Given the description of an element on the screen output the (x, y) to click on. 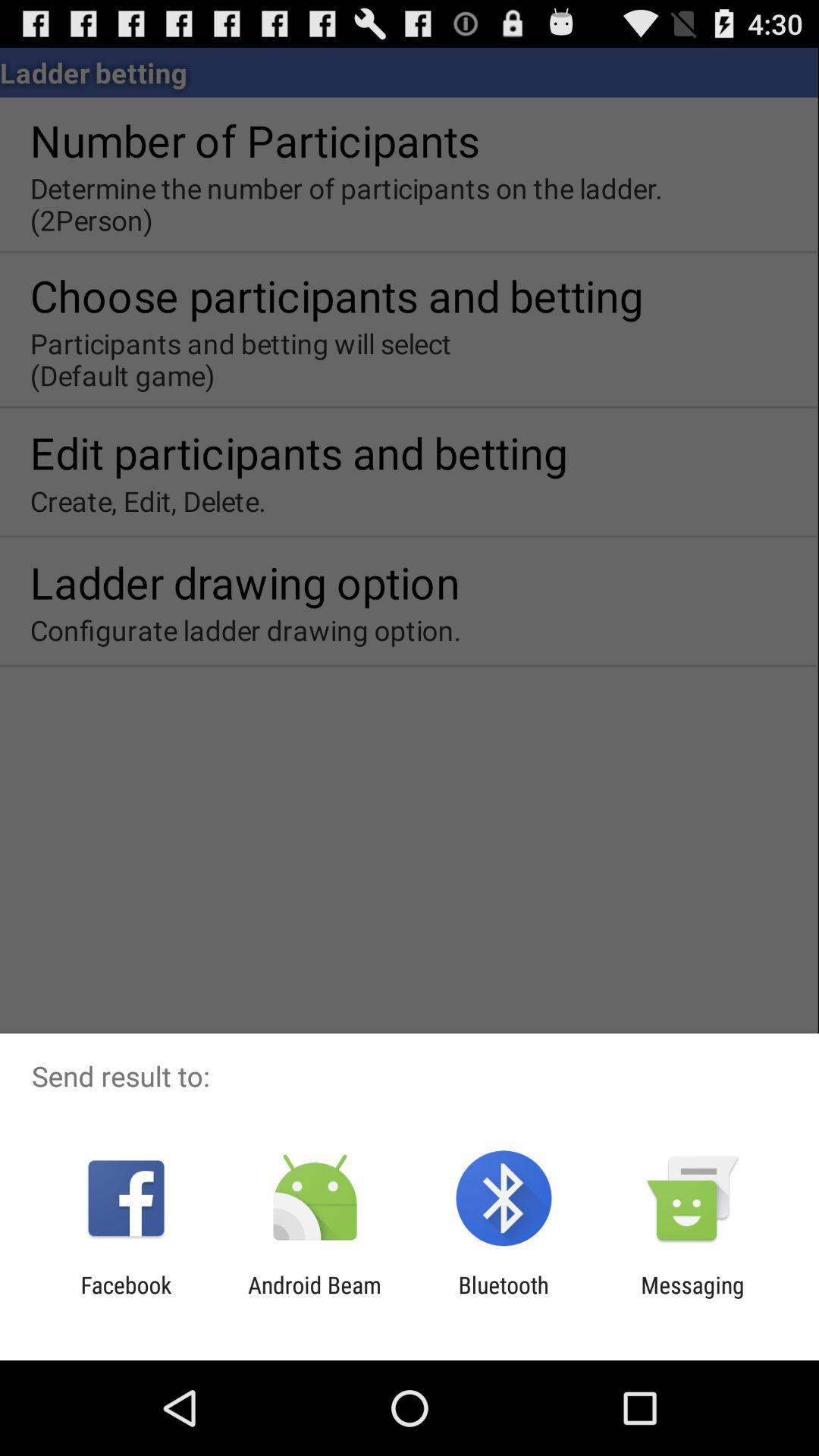
tap item to the right of facebook (314, 1298)
